Given the description of an element on the screen output the (x, y) to click on. 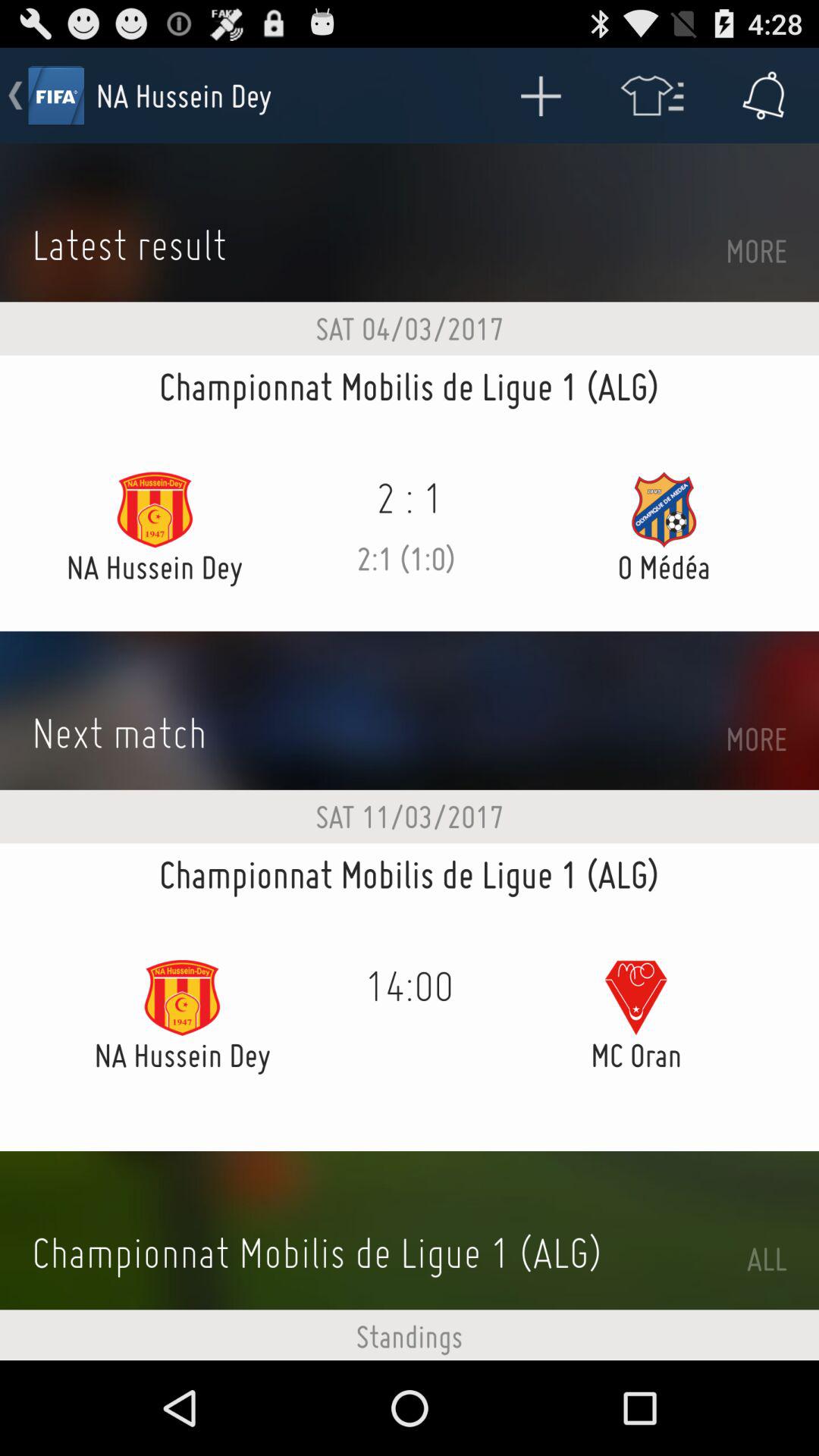
choose item next to na hussein dey app (540, 95)
